Given the description of an element on the screen output the (x, y) to click on. 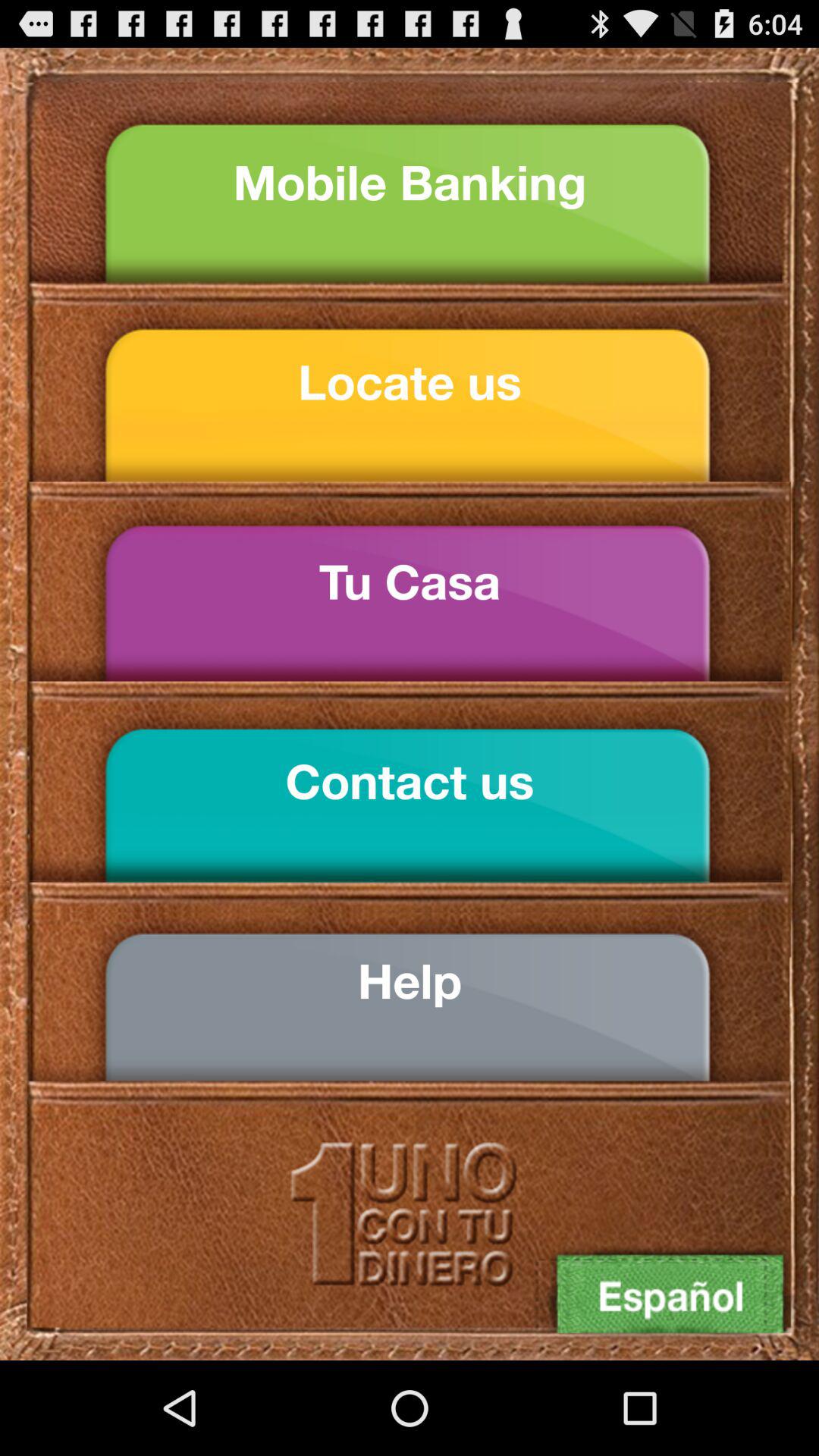
scroll until the help icon (409, 980)
